Given the description of an element on the screen output the (x, y) to click on. 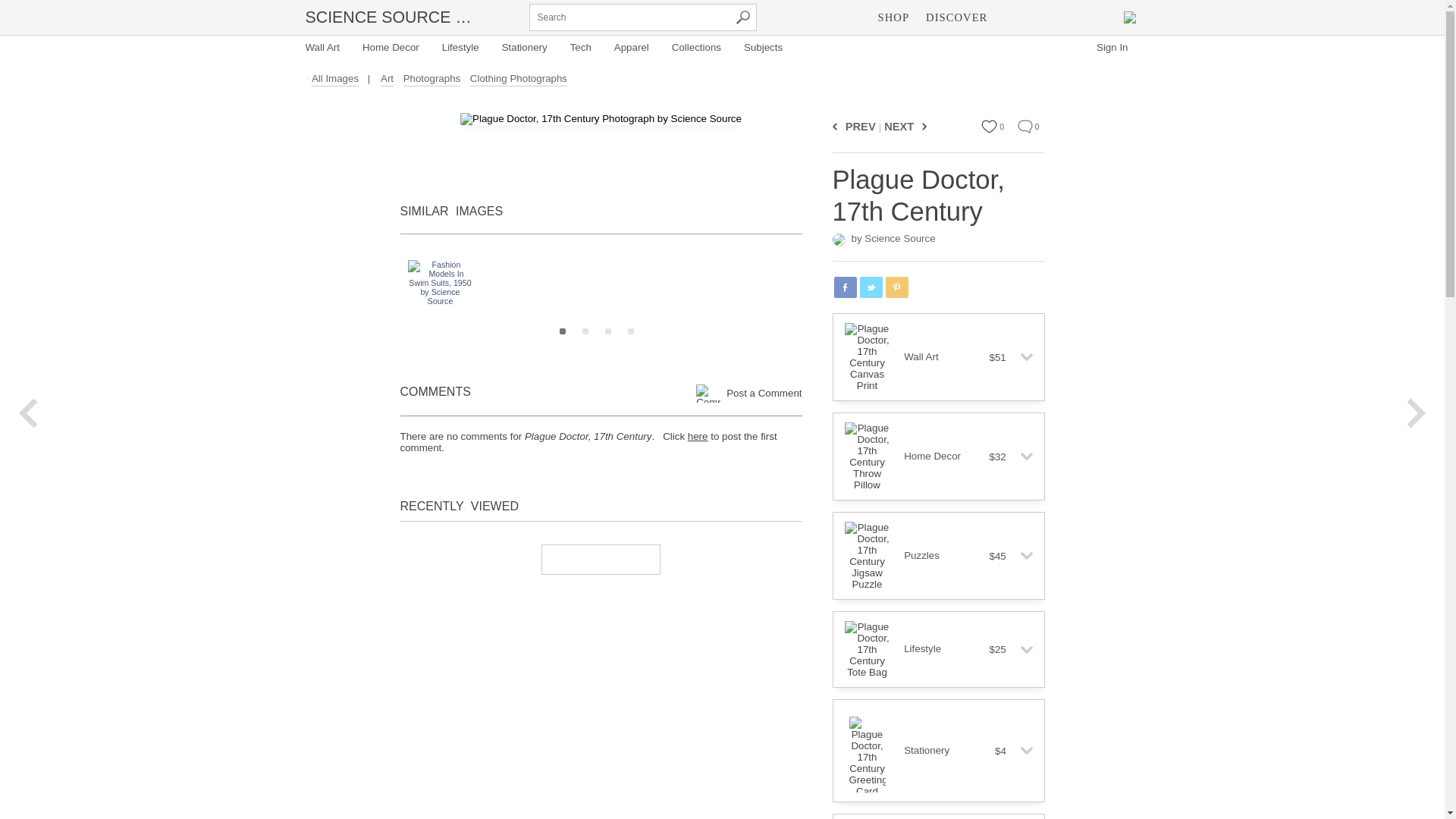
Search (742, 17)
Share Product on Pinterest (896, 287)
Share Product on Facebook (845, 287)
DISCOVER (956, 16)
Comment (1024, 126)
Plague Doctor, 17th Century Photograph by Science Source (600, 119)
SHOP (892, 16)
Share Product on Twitter (871, 287)
Previous Image (837, 126)
Favorite (989, 126)
